Given the description of an element on the screen output the (x, y) to click on. 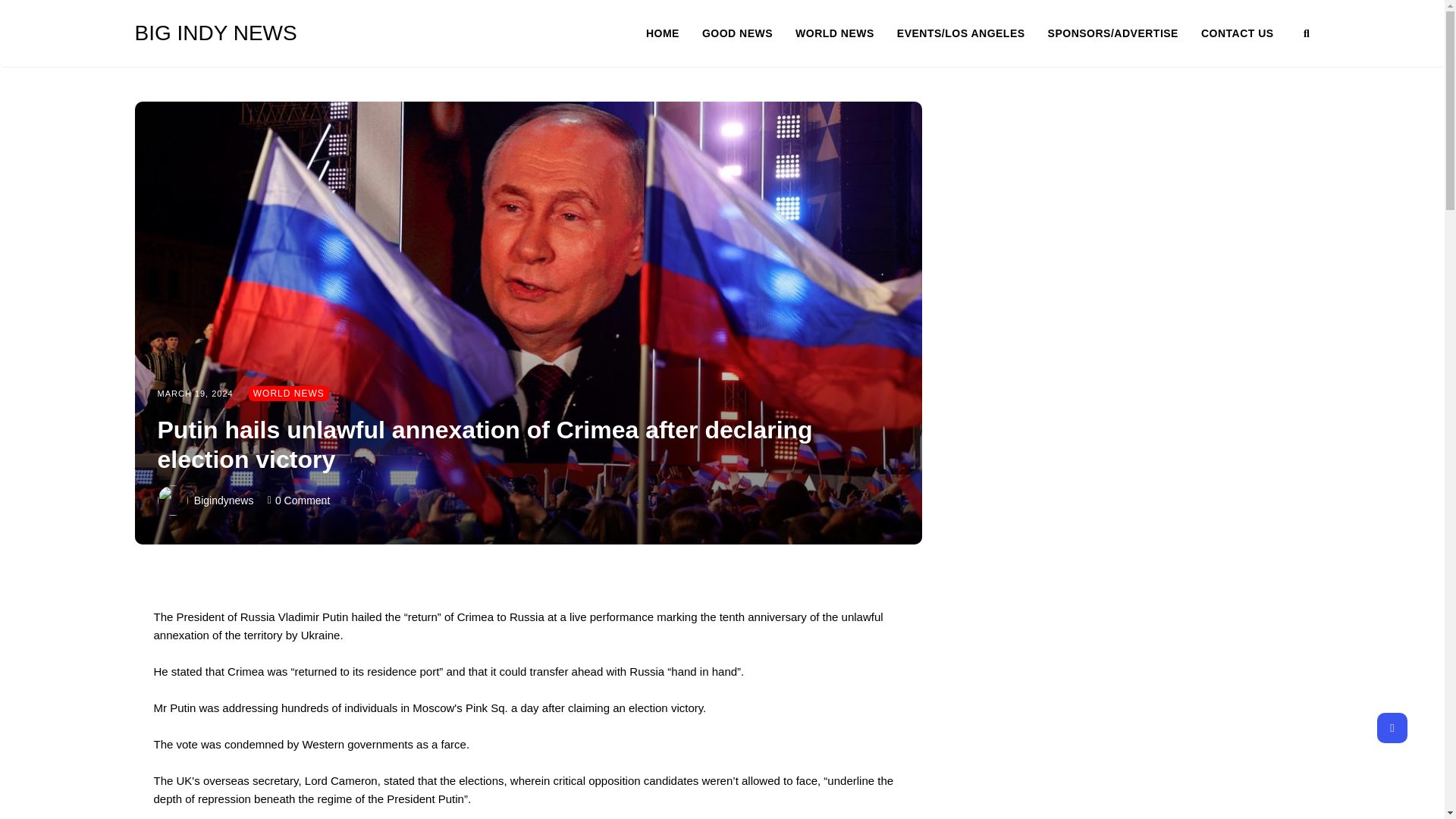
WORLD NEWS (845, 32)
CONTACT US (1237, 32)
0 Comment (302, 500)
MARCH 19, 2024 (194, 393)
Posts by bigindynews (223, 500)
BIG INDY NEWS (252, 33)
Bigindynews (223, 500)
GOOD NEWS (747, 32)
HOME (673, 32)
